Given the description of an element on the screen output the (x, y) to click on. 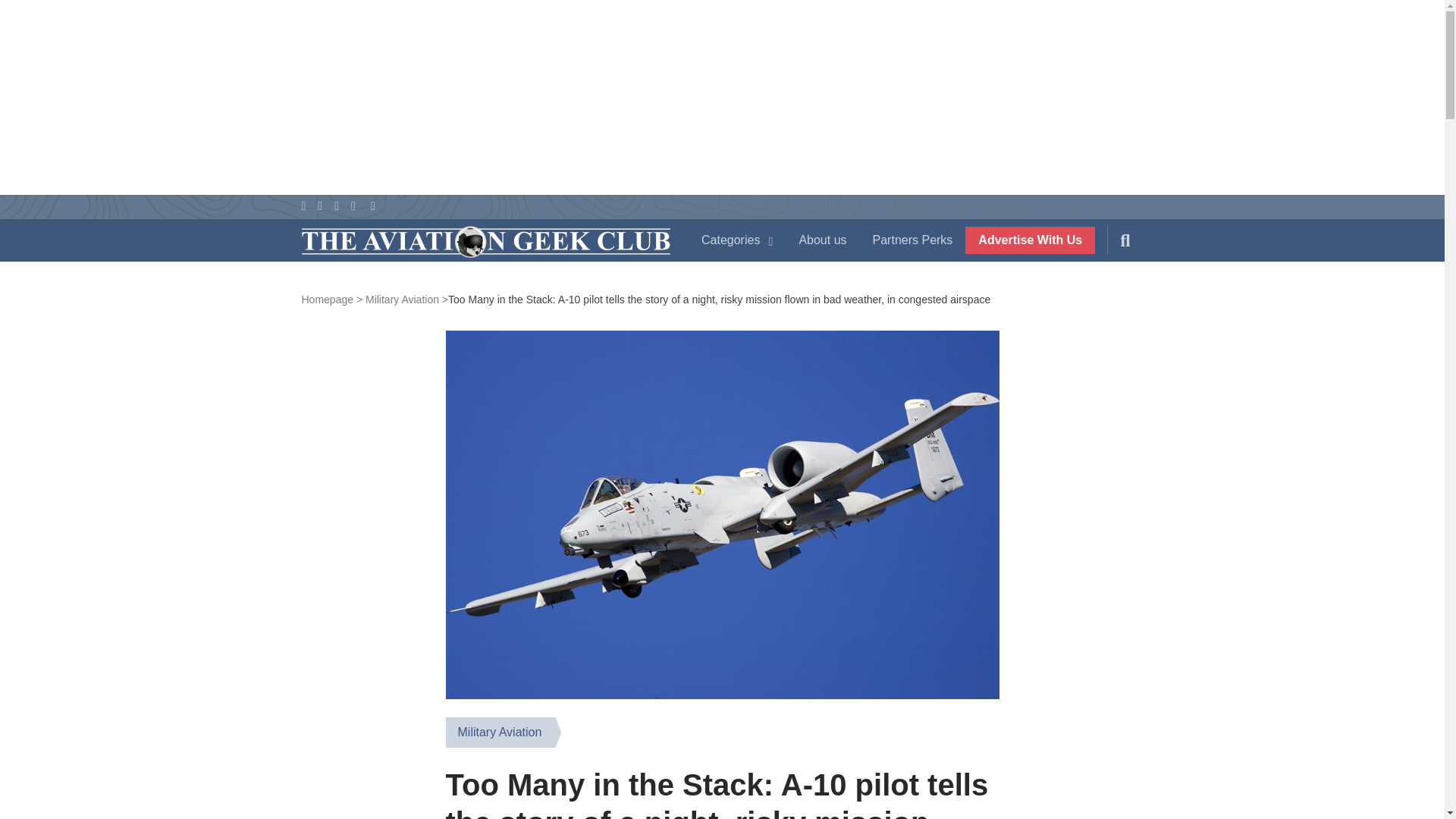
Back to Home (485, 242)
Advertise With Us (1029, 239)
Categories (737, 239)
Back to homepage (331, 299)
About us (822, 239)
Partners Perks (913, 239)
